Given the description of an element on the screen output the (x, y) to click on. 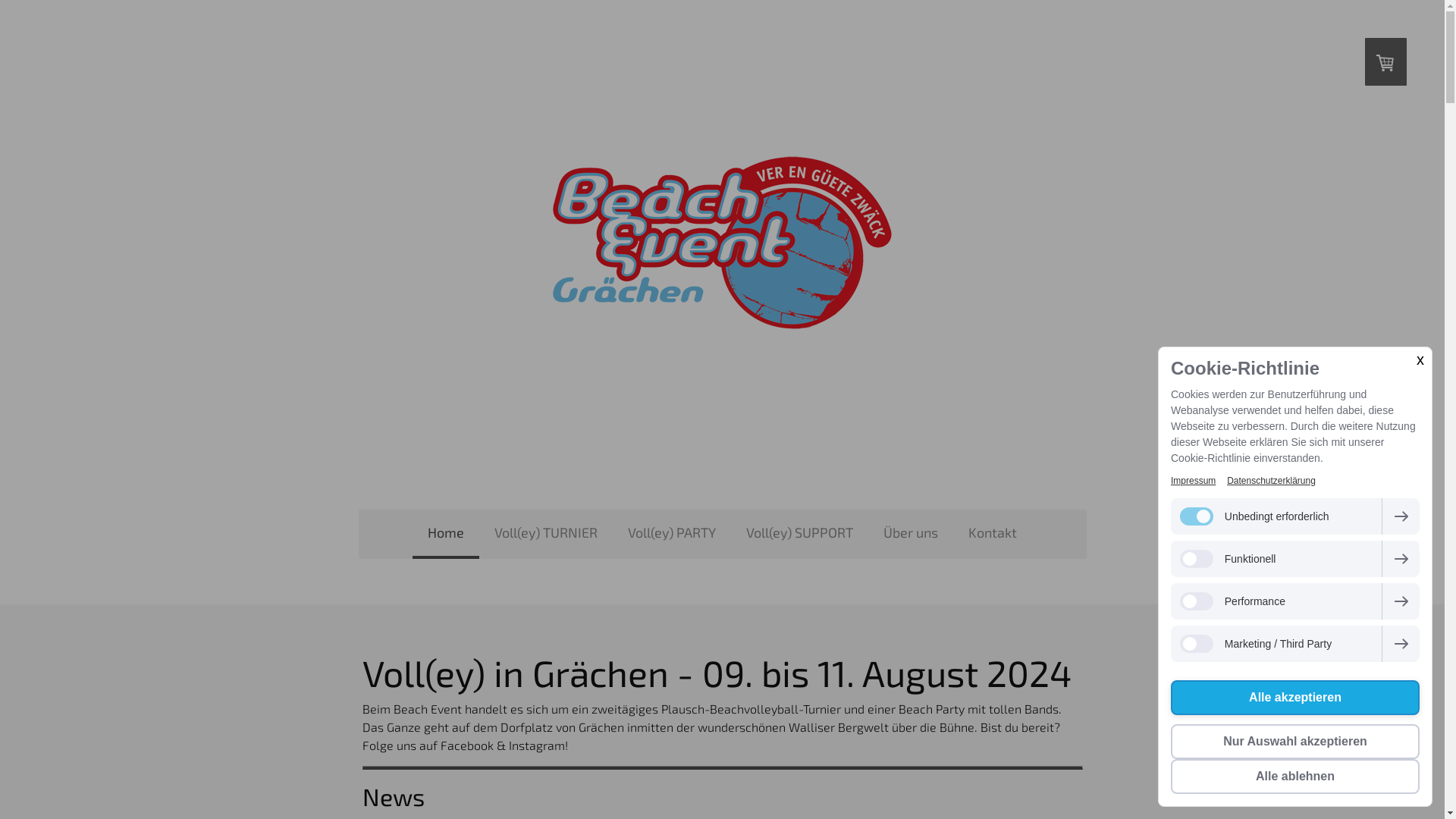
Kontakt Element type: text (992, 534)
Nur Auswahl akzeptieren Element type: text (1294, 741)
Voll(ey) SUPPORT Element type: text (799, 534)
Alle ablehnen Element type: text (1294, 776)
Home Element type: text (445, 534)
Voll(ey) TURNIER Element type: text (545, 534)
Alle akzeptieren Element type: text (1294, 697)
Voll(ey) PARTY Element type: text (671, 534)
Impressum Element type: text (1192, 480)
